Given the description of an element on the screen output the (x, y) to click on. 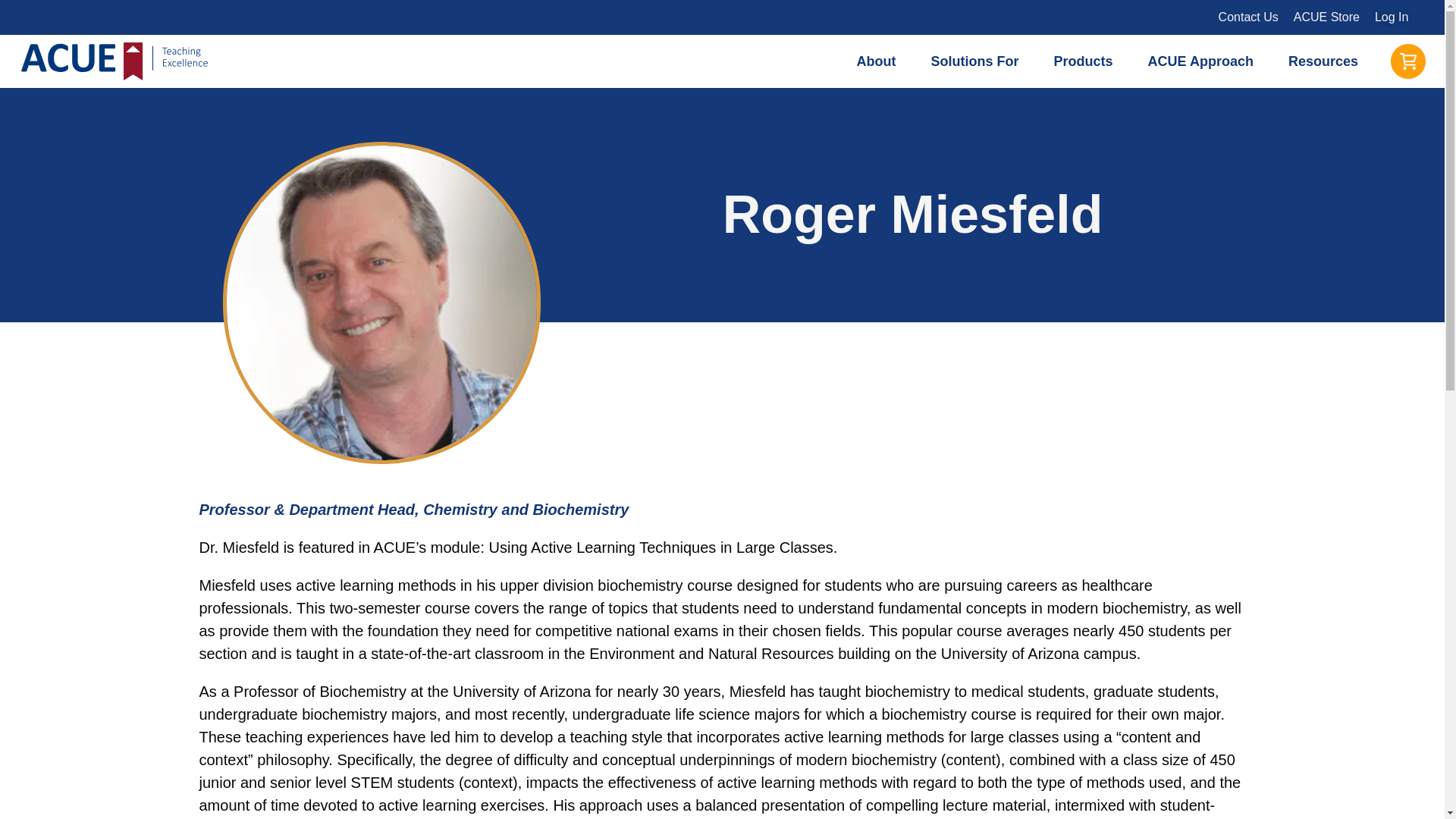
add-to-car-icon (1407, 61)
Solutions For (978, 60)
Resources (1326, 60)
Products (1087, 60)
Log In (1390, 17)
Contact Us (1248, 17)
ACUE Store (1326, 17)
About (880, 60)
ACUE Approach (1204, 60)
